Given the description of an element on the screen output the (x, y) to click on. 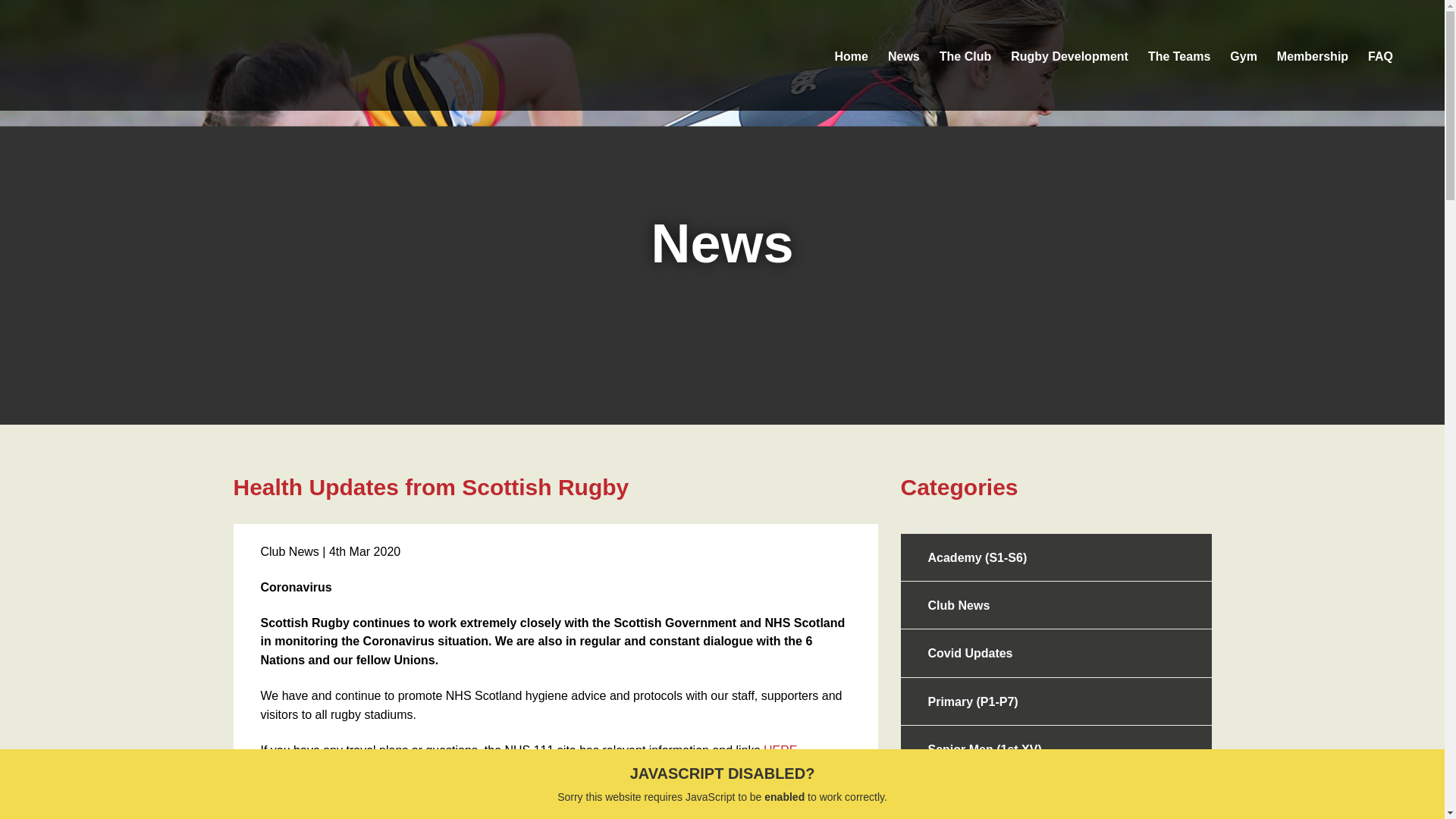
The Teams (1178, 55)
Rugby Development (1069, 55)
The Club (965, 55)
Club News (289, 551)
Stewartry Rugby Club (164, 55)
HERE (779, 749)
Club News (1056, 604)
Gym (1243, 55)
Membership (1312, 55)
Stewartry Rugby Club (164, 55)
